Given the description of an element on the screen output the (x, y) to click on. 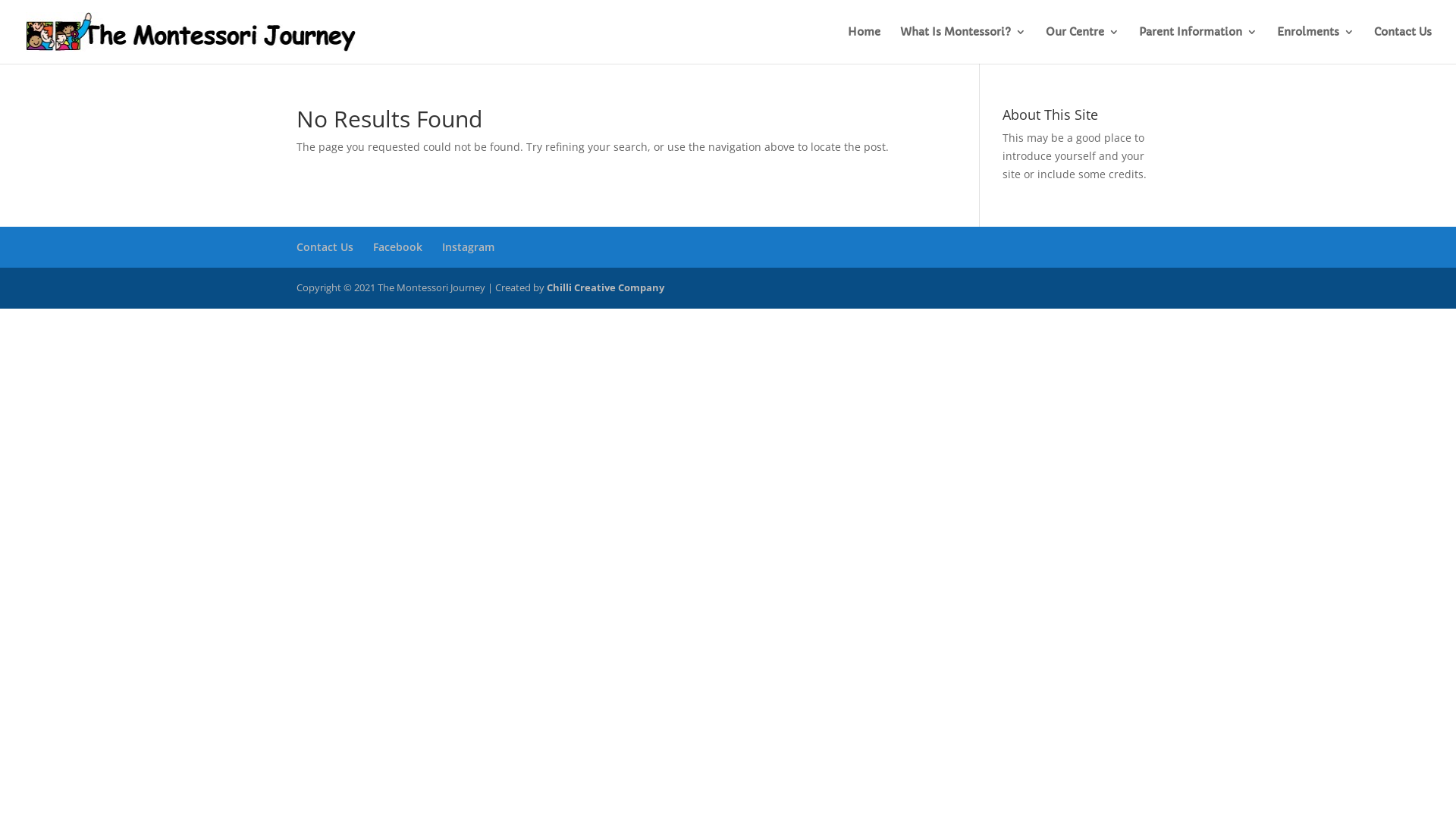
Chilli Creative Company Element type: text (604, 287)
Contact Us Element type: text (323, 246)
Enrolments Element type: text (1315, 44)
Facebook Element type: text (397, 246)
Parent Information Element type: text (1198, 44)
Our Centre Element type: text (1082, 44)
Home Element type: text (863, 44)
What Is Montessori? Element type: text (963, 44)
Instagram Element type: text (467, 246)
Contact Us Element type: text (1402, 44)
